Given the description of an element on the screen output the (x, y) to click on. 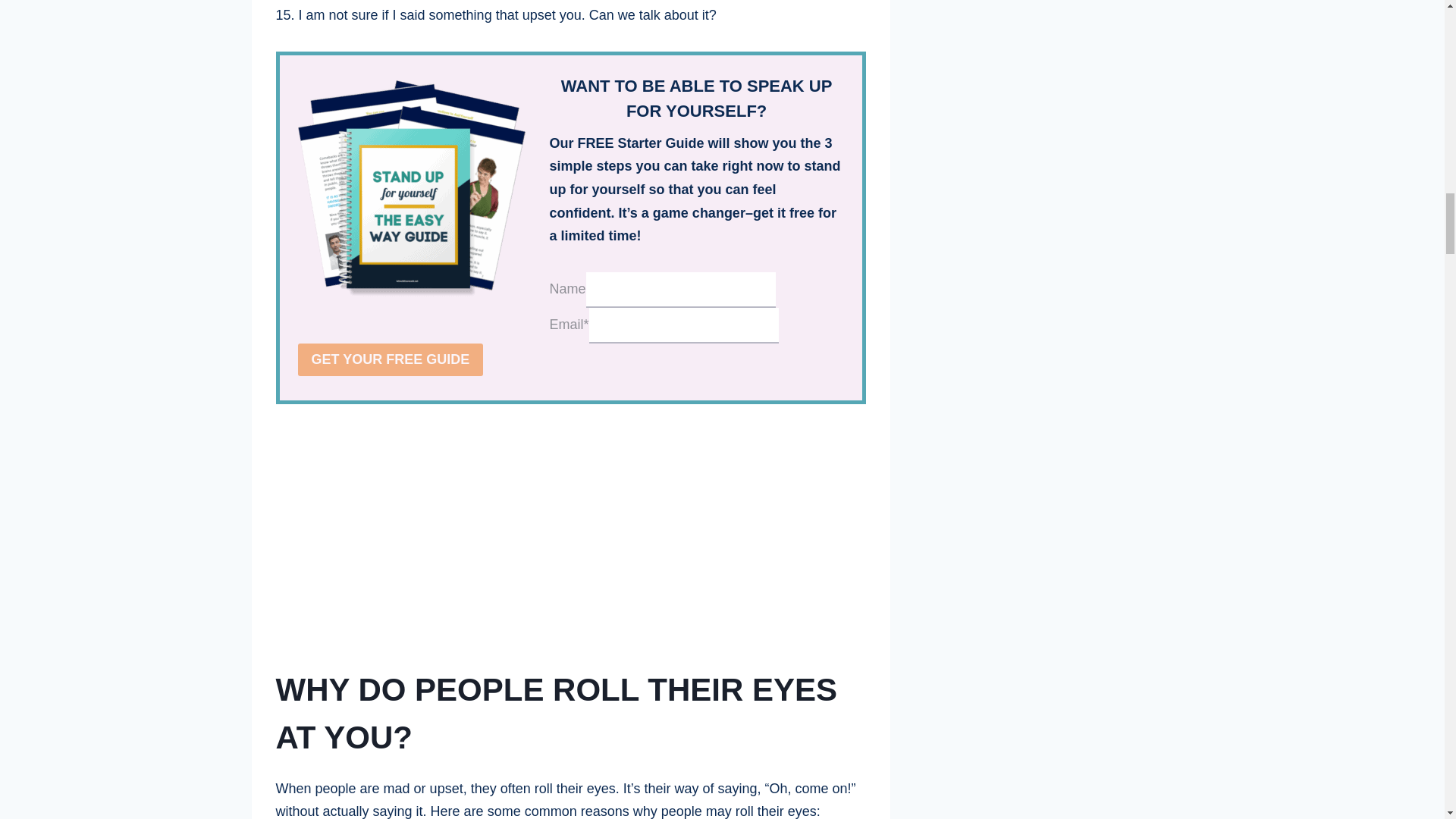
GET YOUR FREE GUIDE (390, 359)
